Given the description of an element on the screen output the (x, y) to click on. 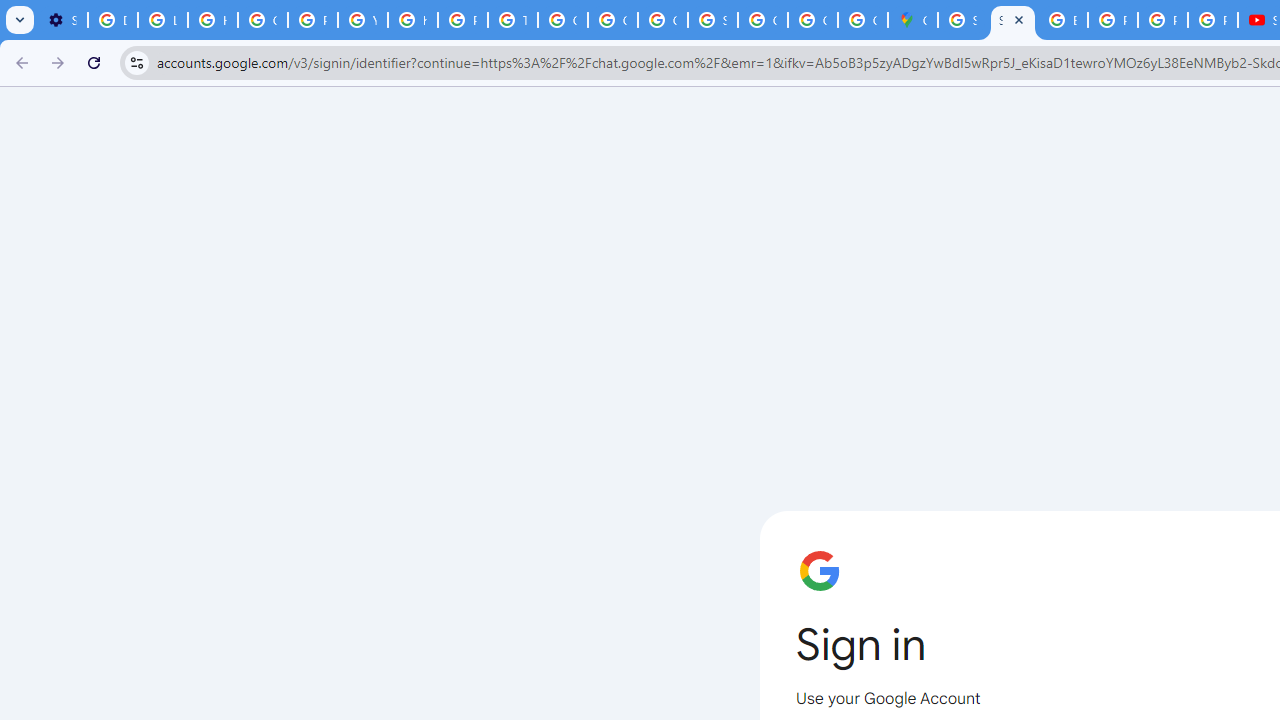
Settings - Customize profile (62, 20)
Google Maps (913, 20)
Delete photos & videos - Computer - Google Photos Help (113, 20)
Sign in - Google Accounts (963, 20)
Privacy Help Center - Policies Help (1162, 20)
Sign in - Google Accounts (712, 20)
YouTube (362, 20)
